Given the description of an element on the screen output the (x, y) to click on. 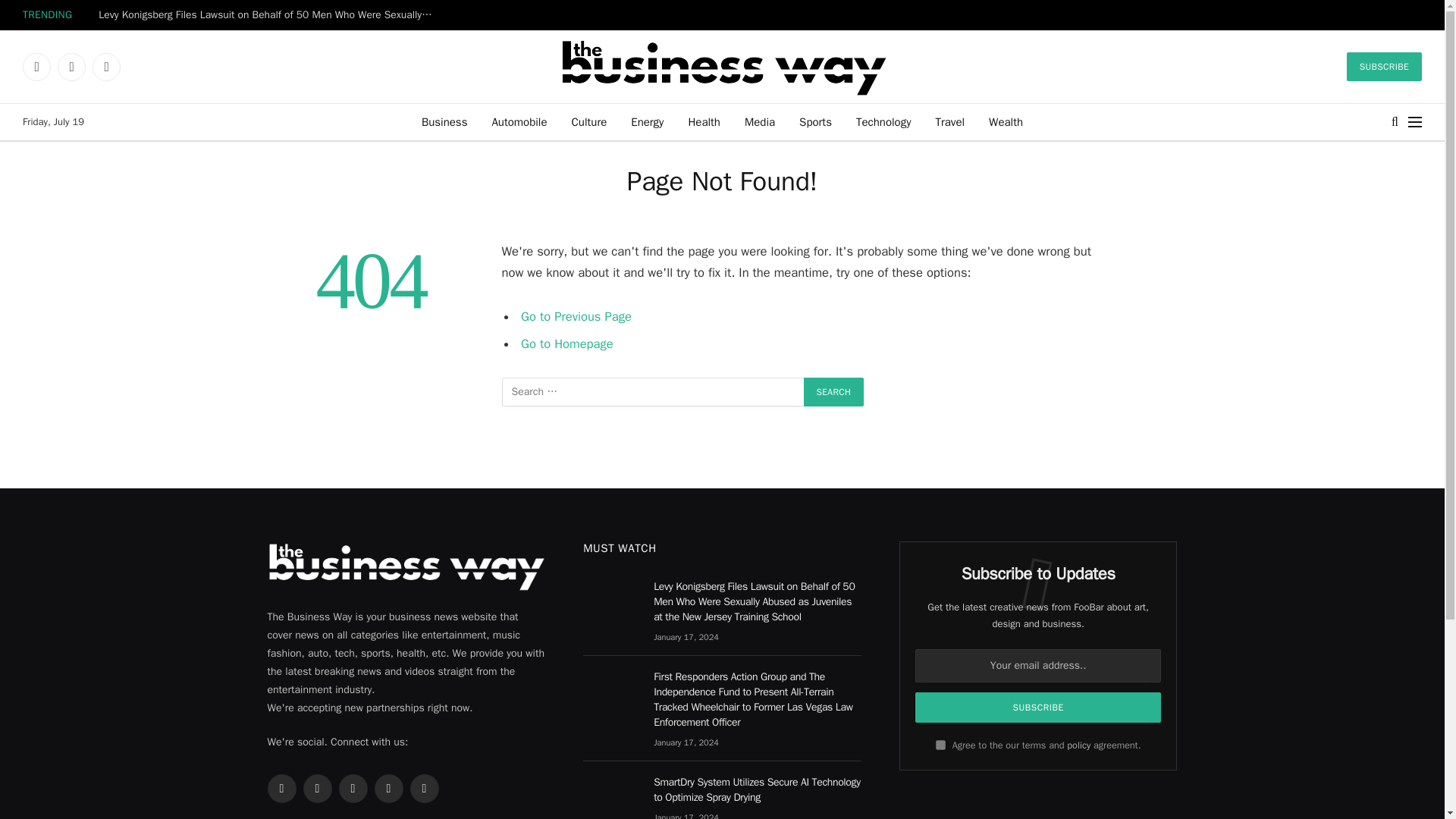
on (940, 745)
Wealth (1005, 122)
Health (703, 122)
SUBSCRIBE (1384, 66)
Automobile (519, 122)
Travel (949, 122)
Go to Previous Page (576, 316)
Media (759, 122)
Search (833, 391)
Search (1394, 121)
Go to Homepage (566, 342)
Subscribe (1038, 707)
The Business Way (721, 66)
